Given the description of an element on the screen output the (x, y) to click on. 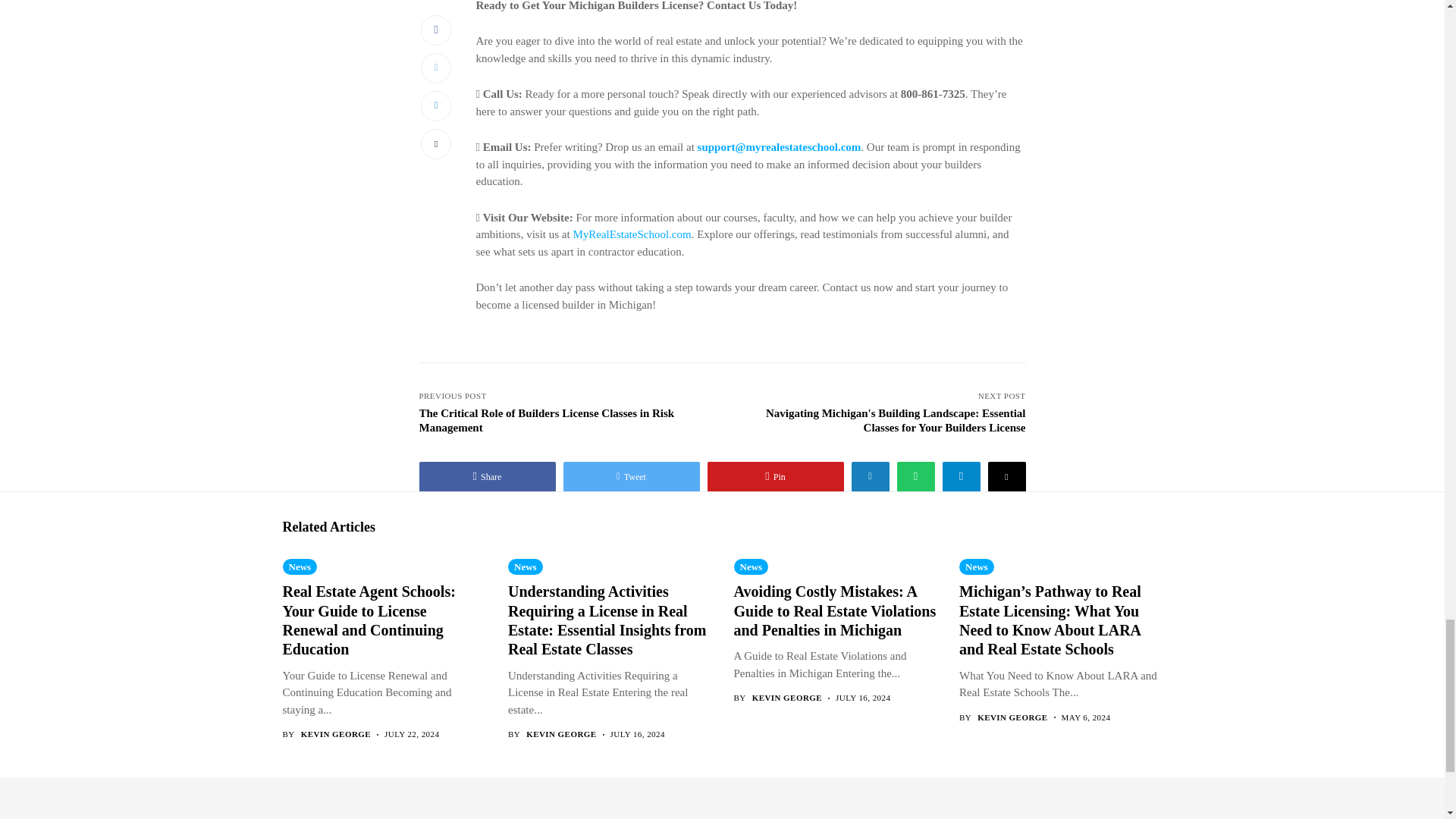
Tweet (630, 476)
Pin (774, 476)
MyRealEstateSchool.com (631, 234)
Share (486, 476)
Posts by Kevin George (336, 734)
Posts by Kevin George (787, 697)
Posts by Kevin George (560, 734)
Posts by Kevin George (1011, 717)
